Given the description of an element on the screen output the (x, y) to click on. 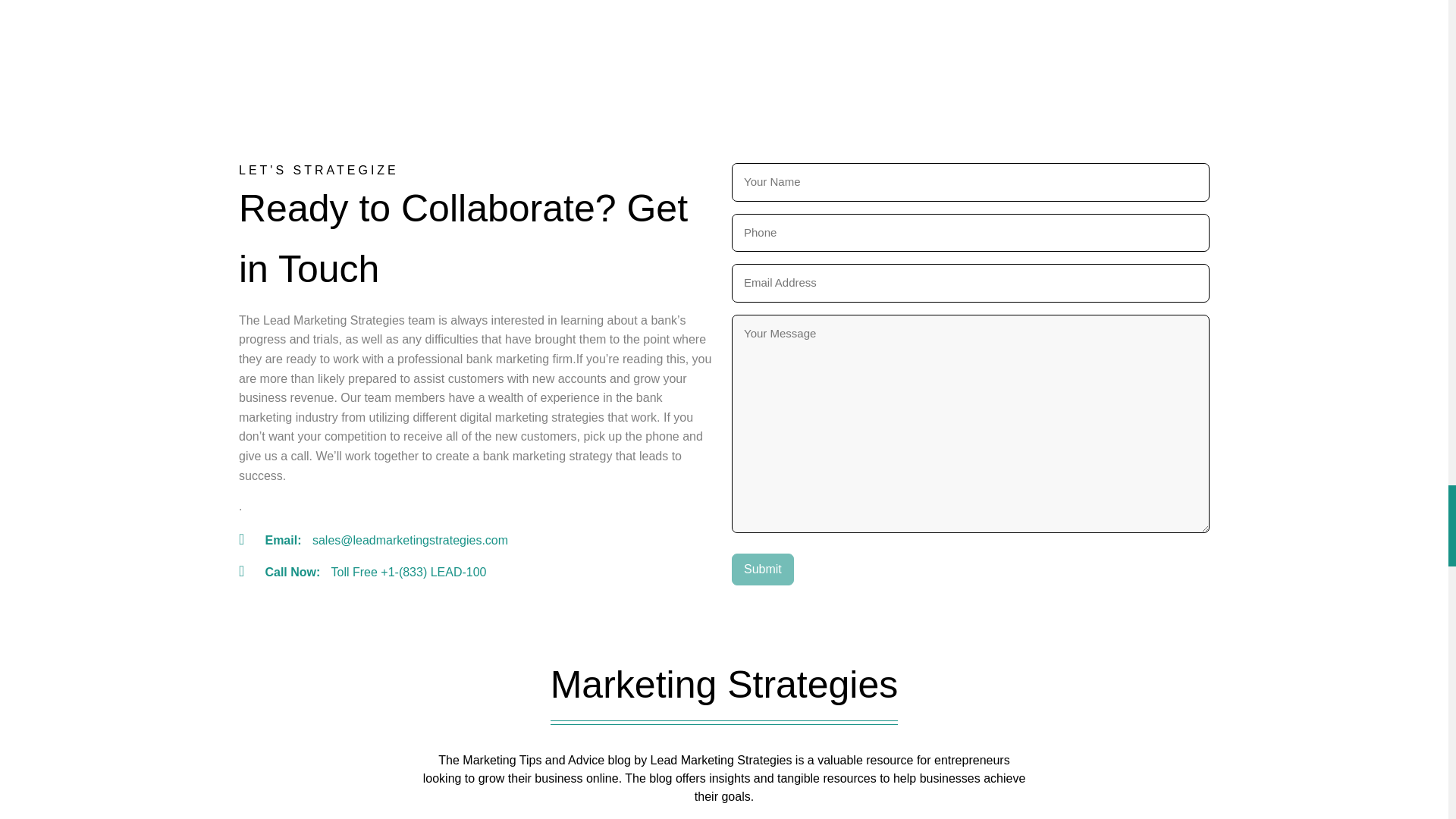
Submit (762, 569)
Marketing Strategies (724, 696)
Submit (762, 569)
